Given the description of an element on the screen output the (x, y) to click on. 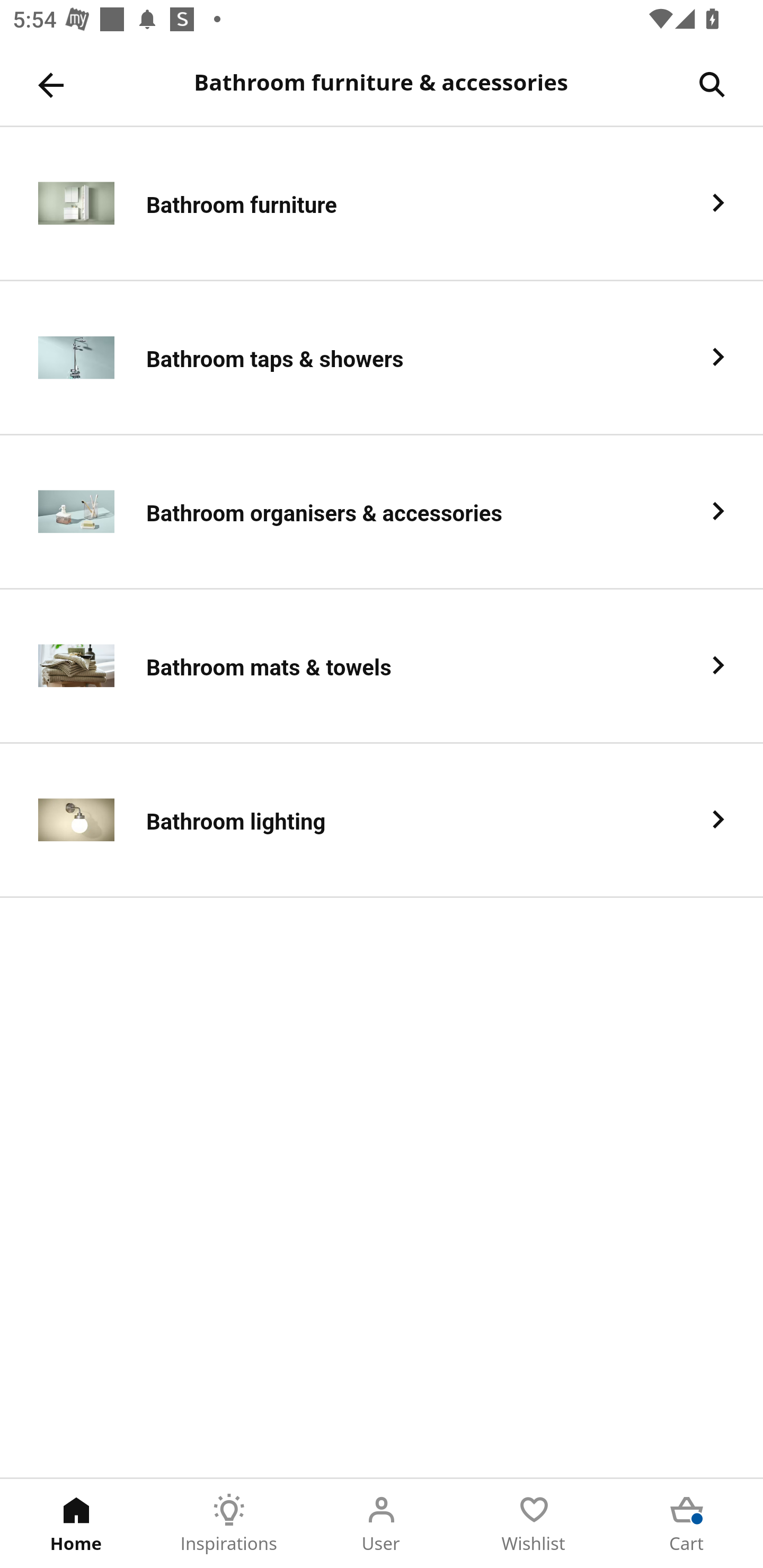
Bathroom furniture (381, 203)
Bathroom taps & showers (381, 357)
Bathroom organisers & accessories (381, 512)
Bathroom mats & towels (381, 666)
Bathroom lighting (381, 820)
Home
Tab 1 of 5 (76, 1522)
Inspirations
Tab 2 of 5 (228, 1522)
User
Tab 3 of 5 (381, 1522)
Wishlist
Tab 4 of 5 (533, 1522)
Cart
Tab 5 of 5 (686, 1522)
